Given the description of an element on the screen output the (x, y) to click on. 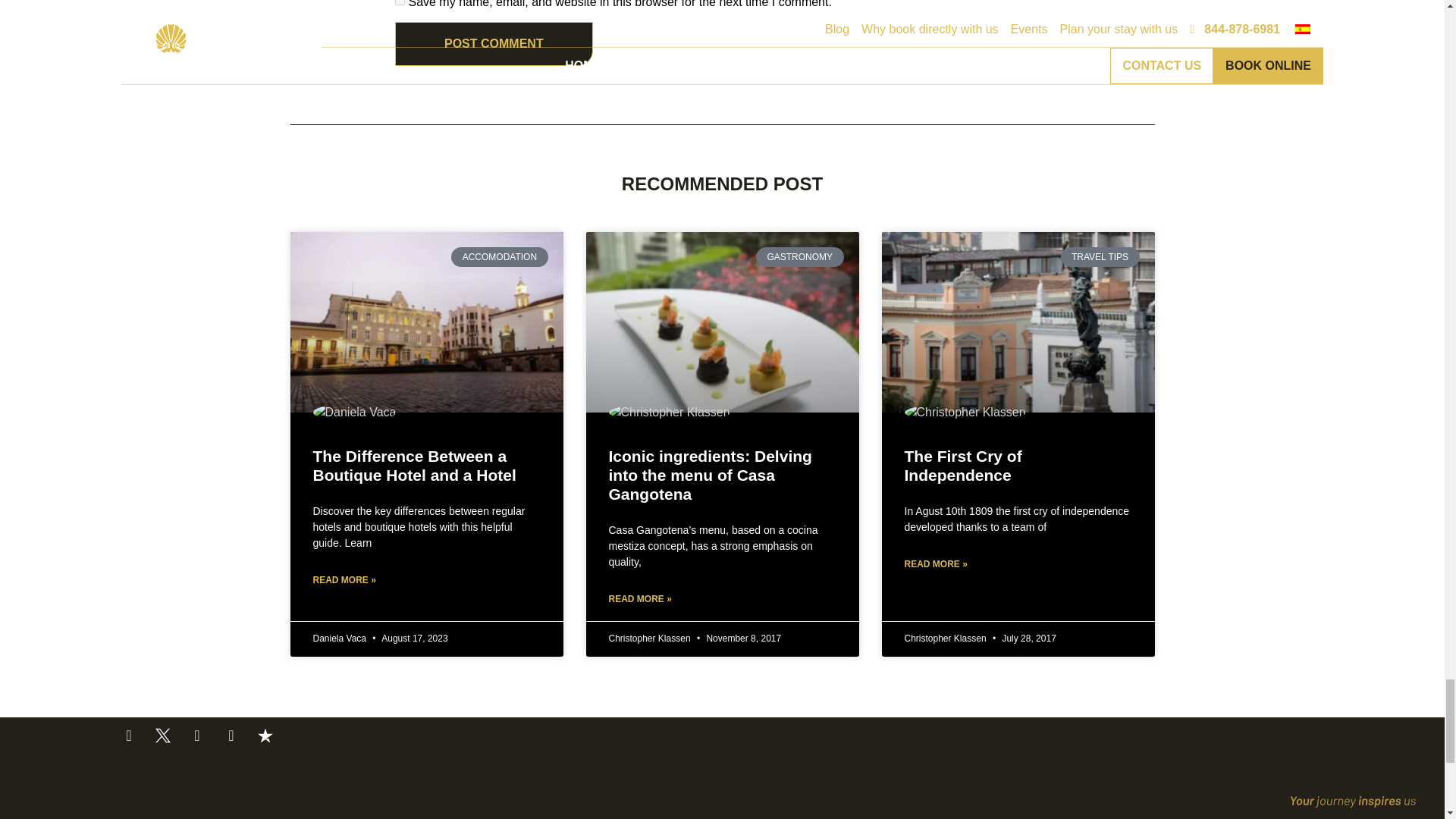
yes (399, 2)
Post Comment (493, 44)
